Given the description of an element on the screen output the (x, y) to click on. 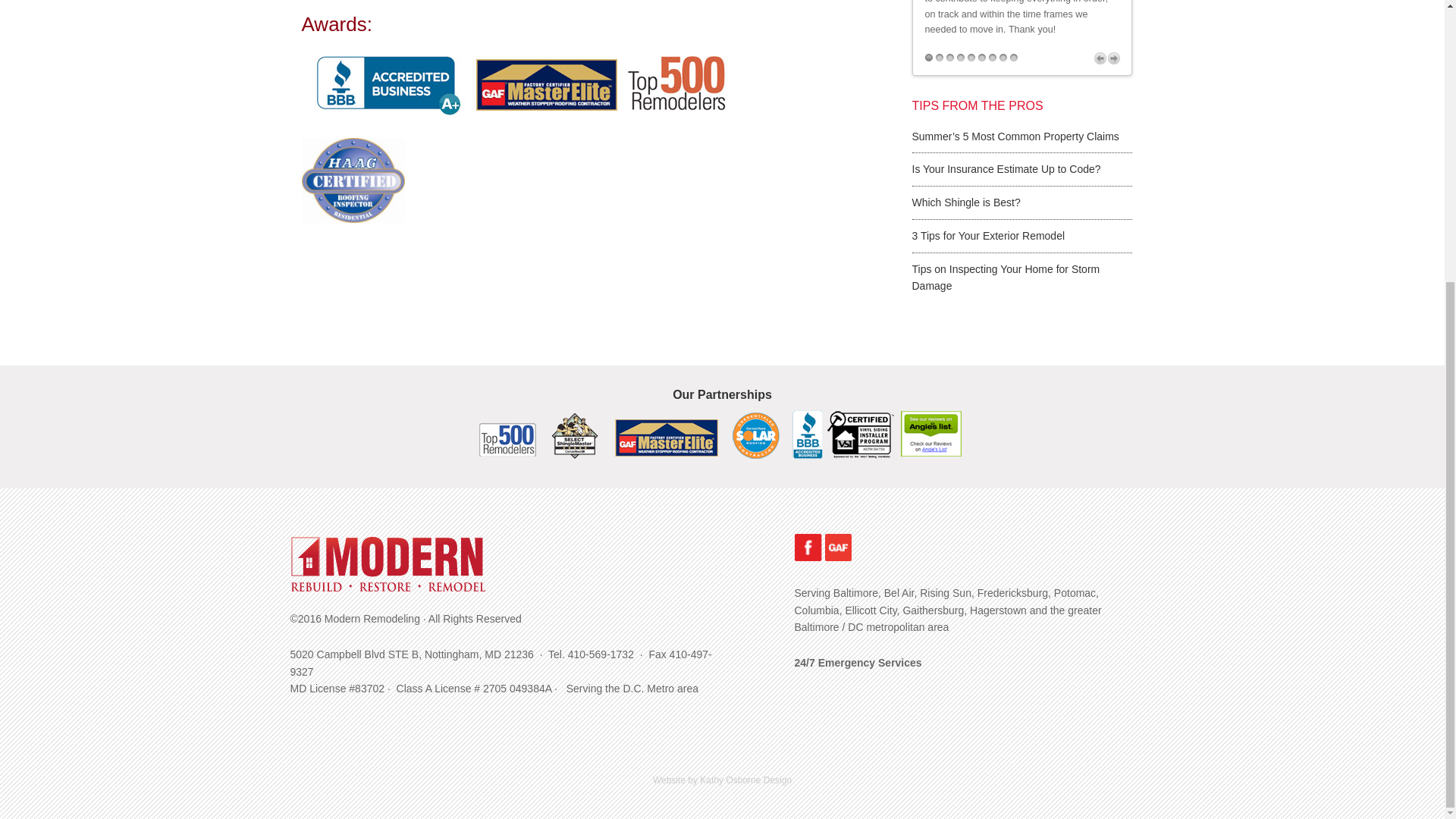
7 (991, 58)
3 (949, 58)
2 (939, 58)
9 (1013, 58)
Next (1112, 58)
1 (928, 58)
4 (959, 58)
Previous (1099, 58)
5 (971, 58)
8 (1002, 58)
6 (981, 58)
